Given the description of an element on the screen output the (x, y) to click on. 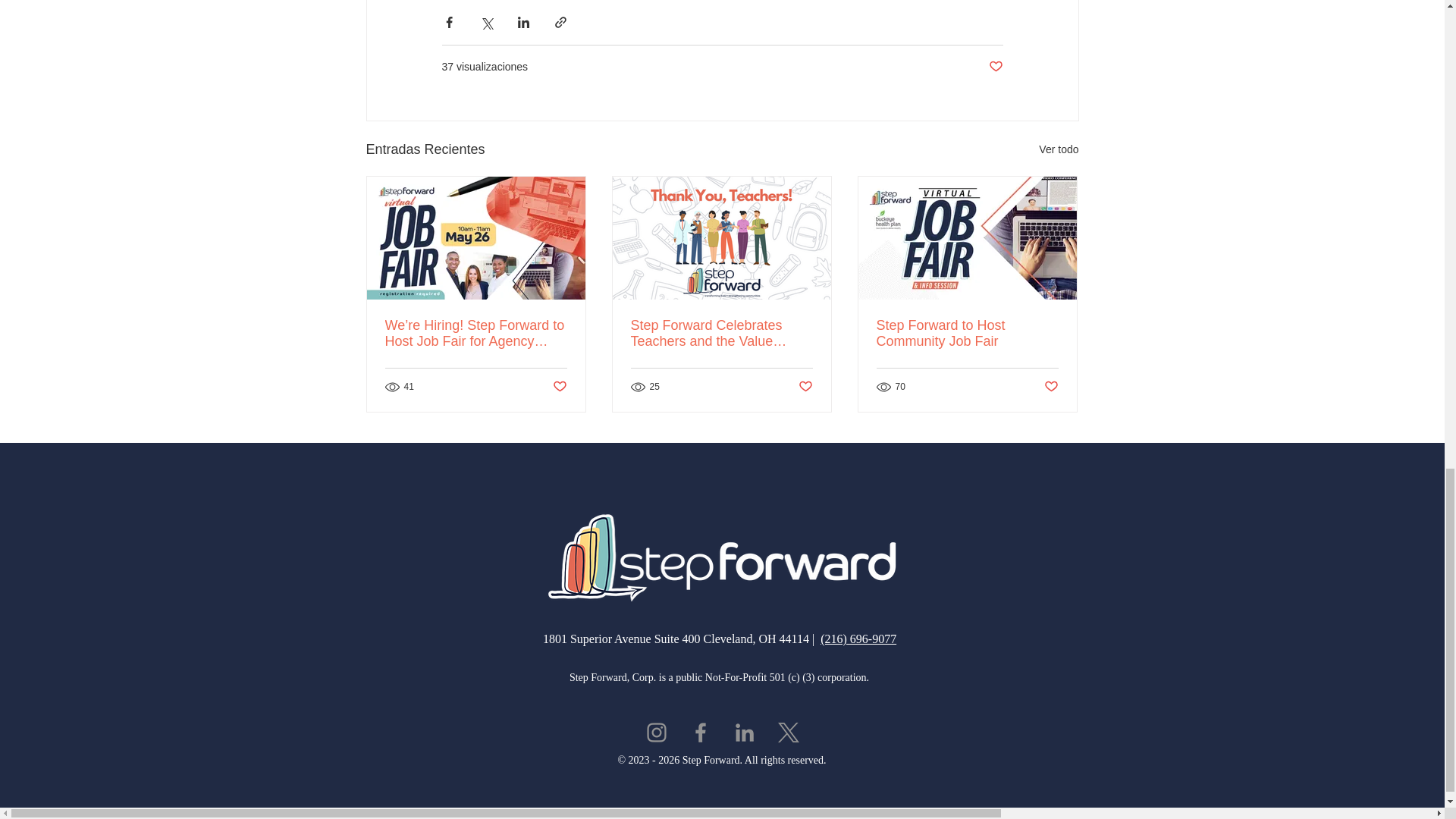
Step Forward Logo (721, 556)
